Given the description of an element on the screen output the (x, y) to click on. 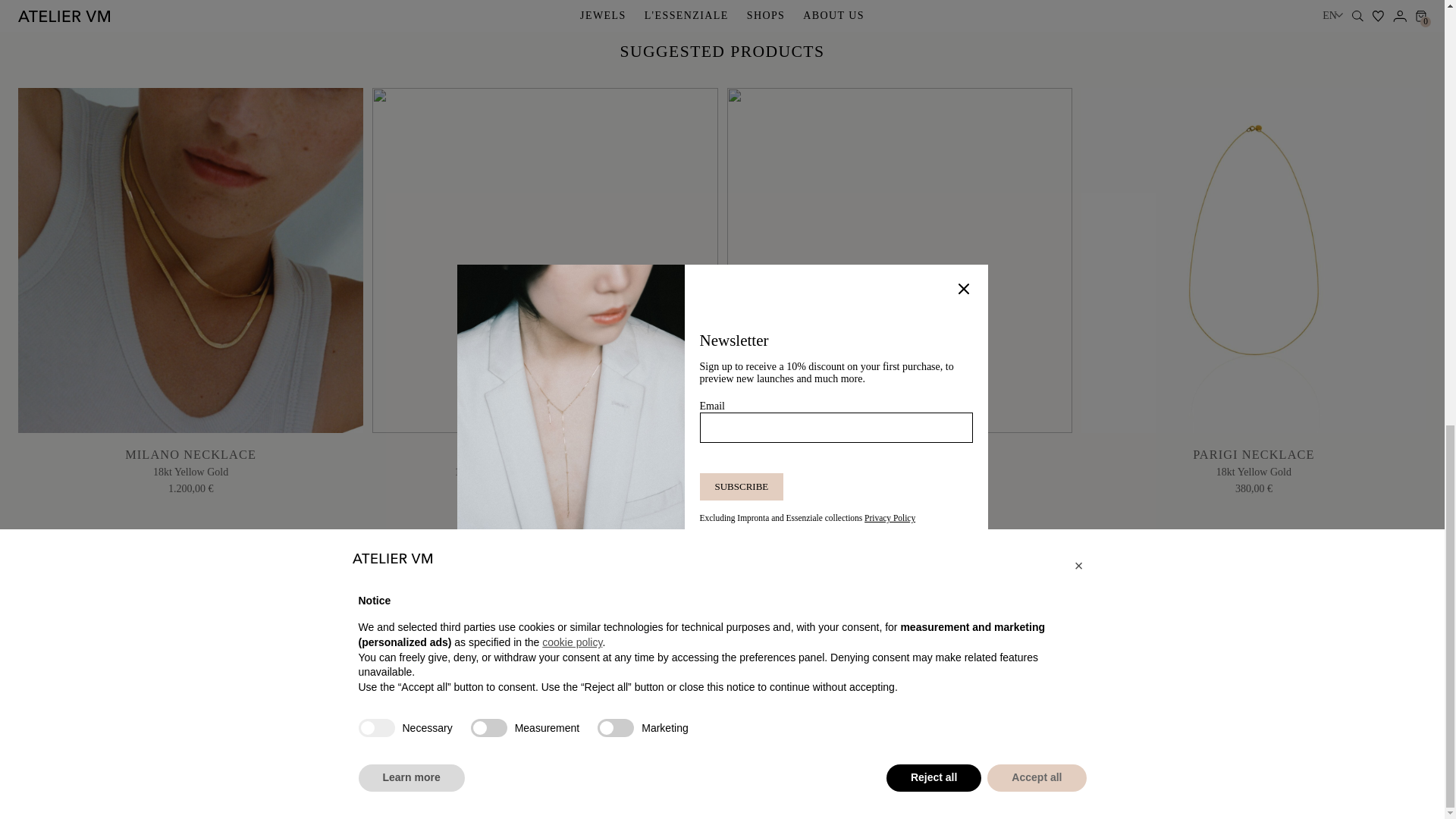
Terms and conditions (436, 783)
Cookie Policy  (635, 783)
Privacy Policy (547, 783)
